Given the description of an element on the screen output the (x, y) to click on. 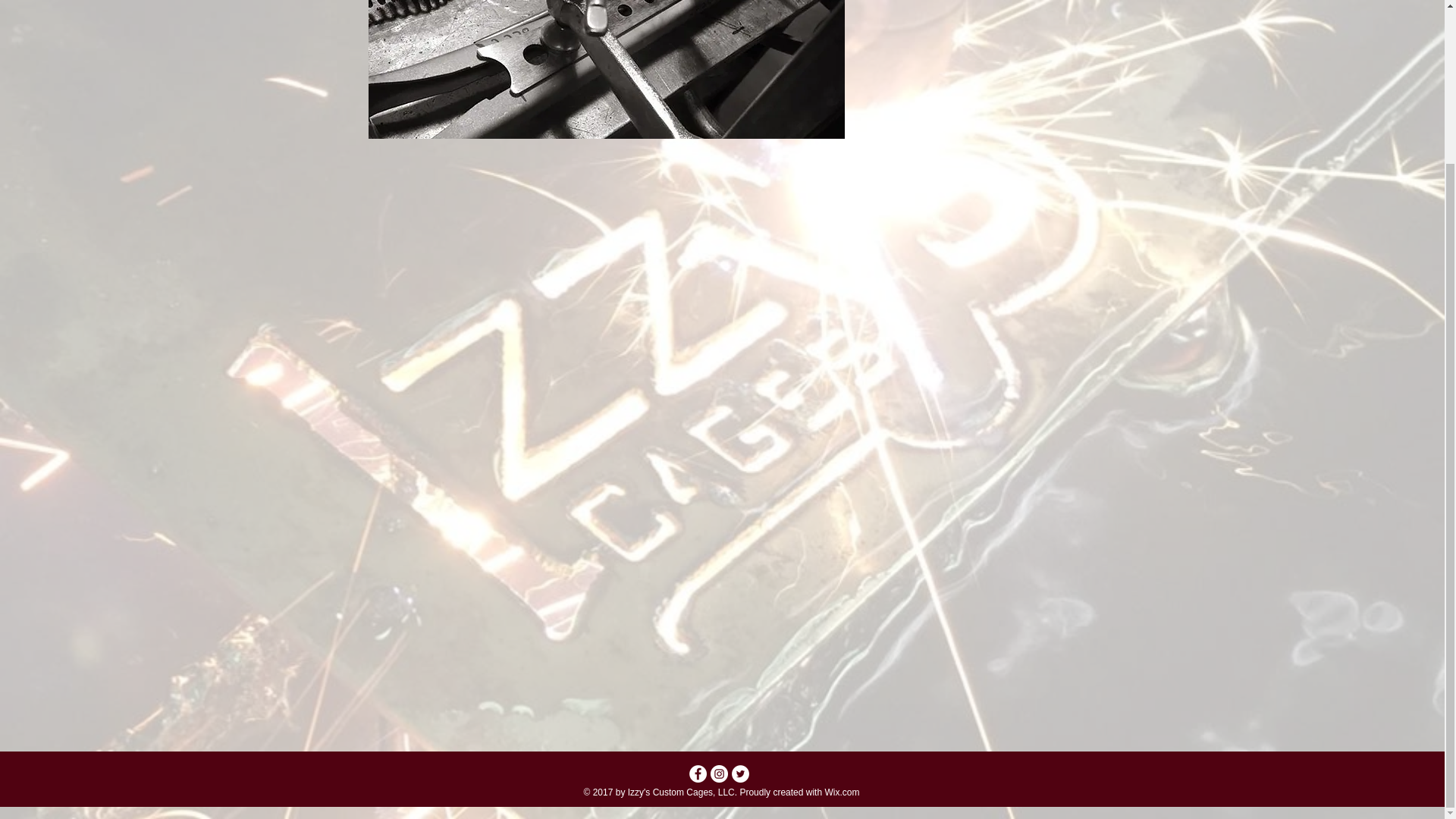
Wix.com (841, 792)
